Given the description of an element on the screen output the (x, y) to click on. 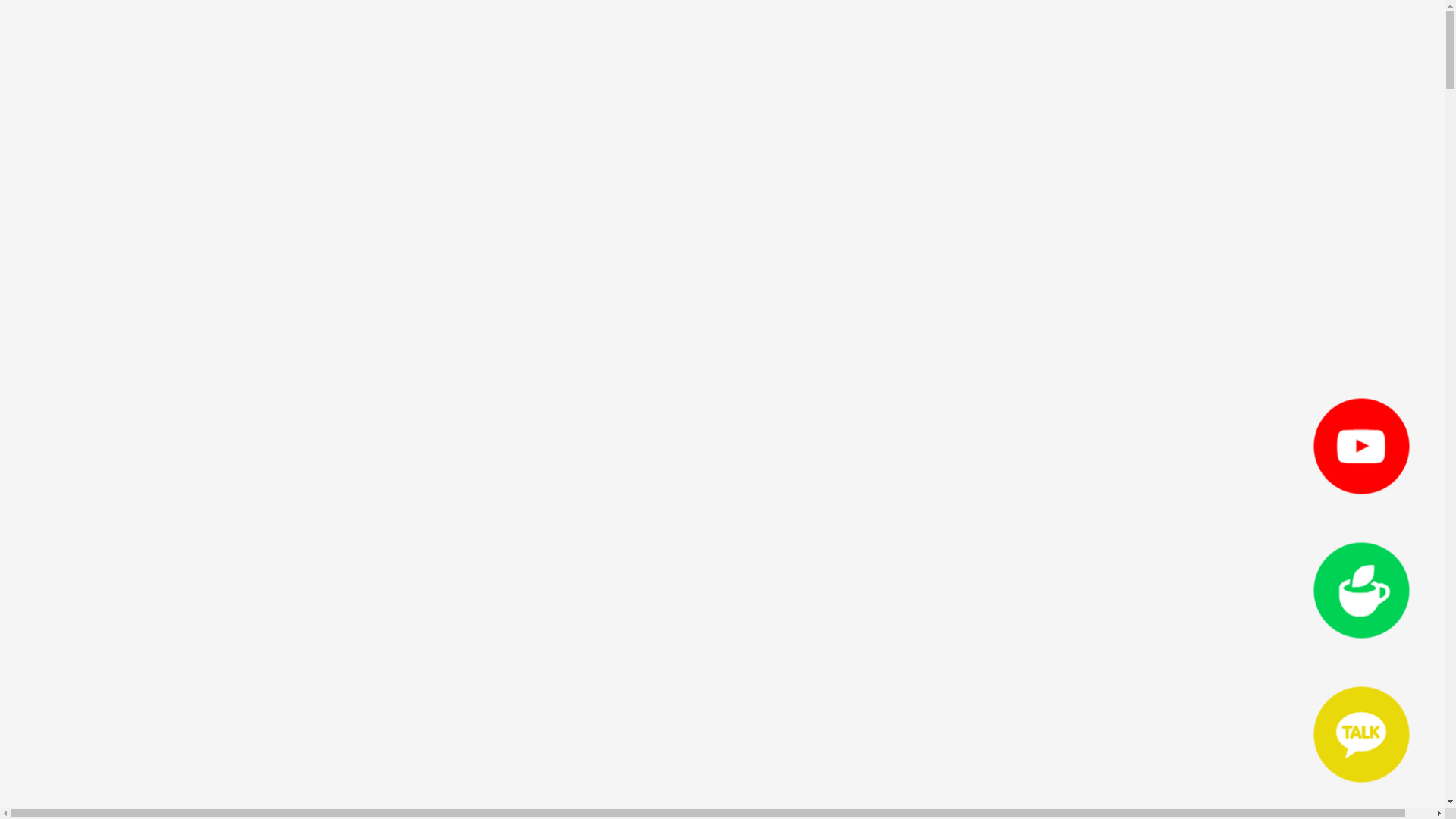
Alarm Element type: text (1409, 27)
JOIN Element type: text (46, 661)
site search Element type: text (83, 678)
LOGIN Element type: text (42, 646)
